Given the description of an element on the screen output the (x, y) to click on. 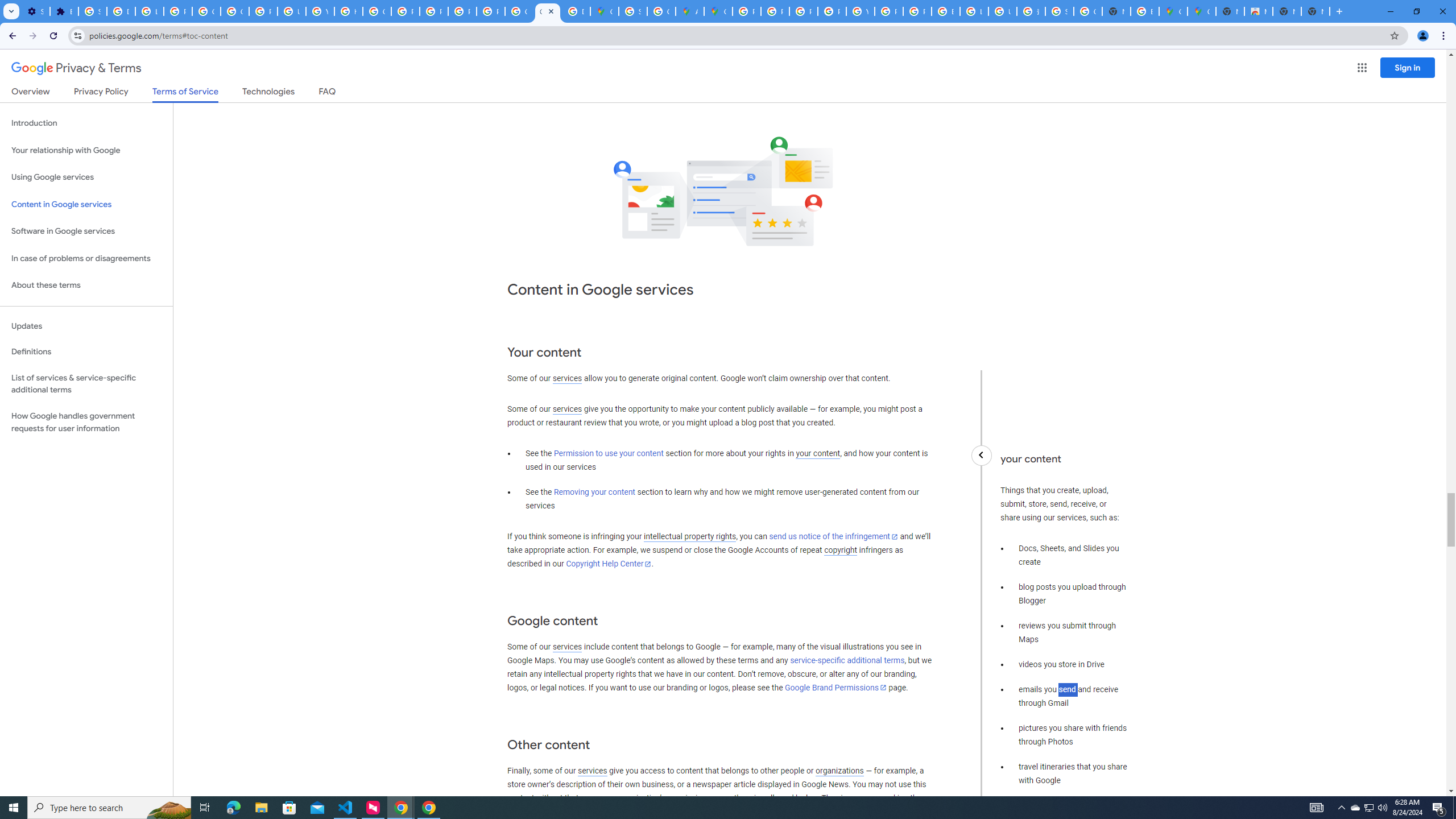
Privacy Policy (100, 93)
How Google handles government requests for user information (86, 422)
About these terms (86, 284)
Software in Google services (86, 230)
Extensions (63, 11)
Google Account Help (234, 11)
Sign in - Google Accounts (1058, 11)
Google Brand Permissions (835, 687)
copyright (840, 550)
